Given the description of an element on the screen output the (x, y) to click on. 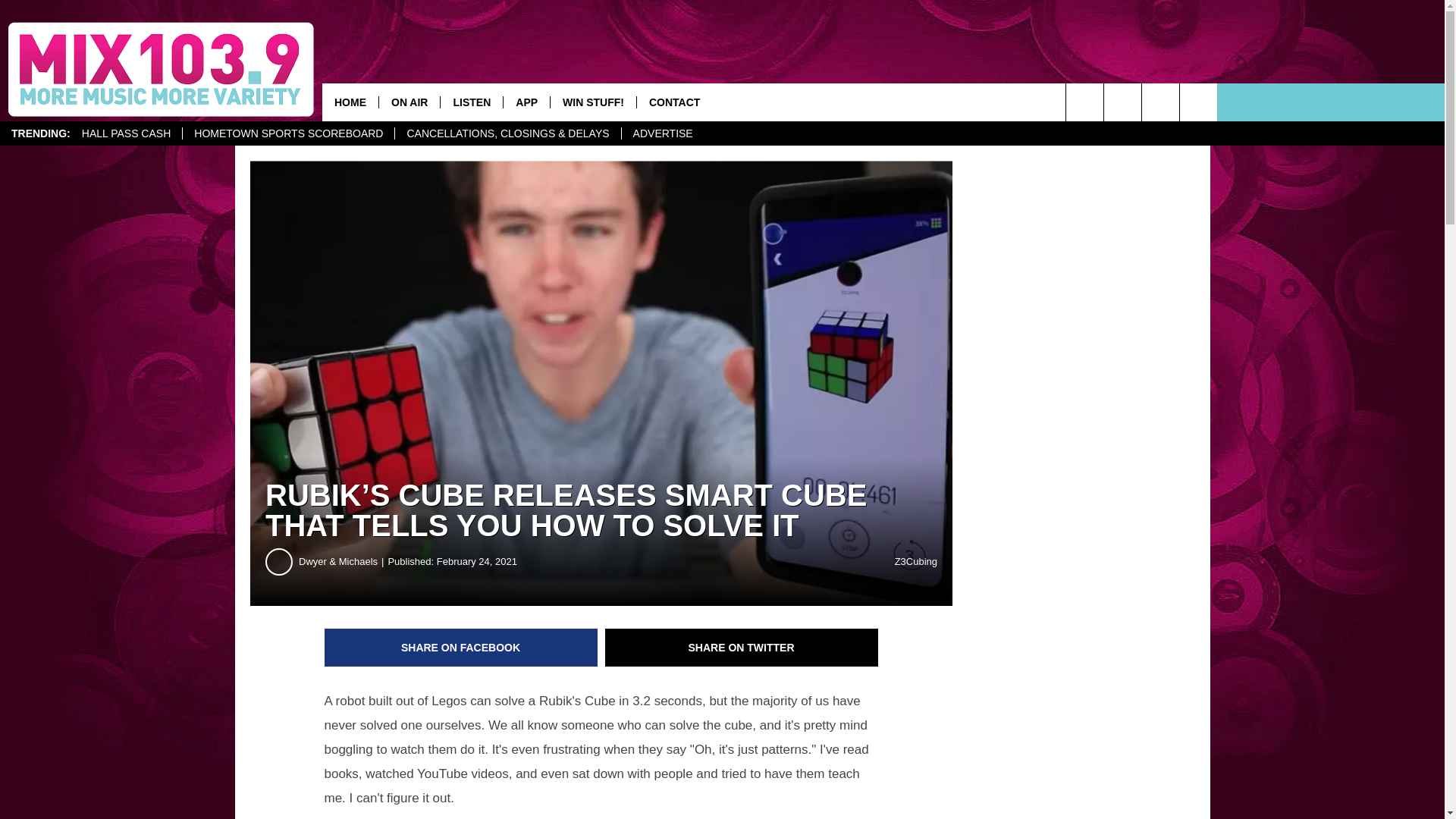
ON AIR (408, 102)
LISTEN (470, 102)
APP (526, 102)
WIN STUFF! (593, 102)
Share on Twitter (741, 647)
ADVERTISE (662, 133)
HOMETOWN SPORTS SCOREBOARD (288, 133)
HALL PASS CASH (126, 133)
Share on Facebook (460, 647)
HOME (349, 102)
